Given the description of an element on the screen output the (x, y) to click on. 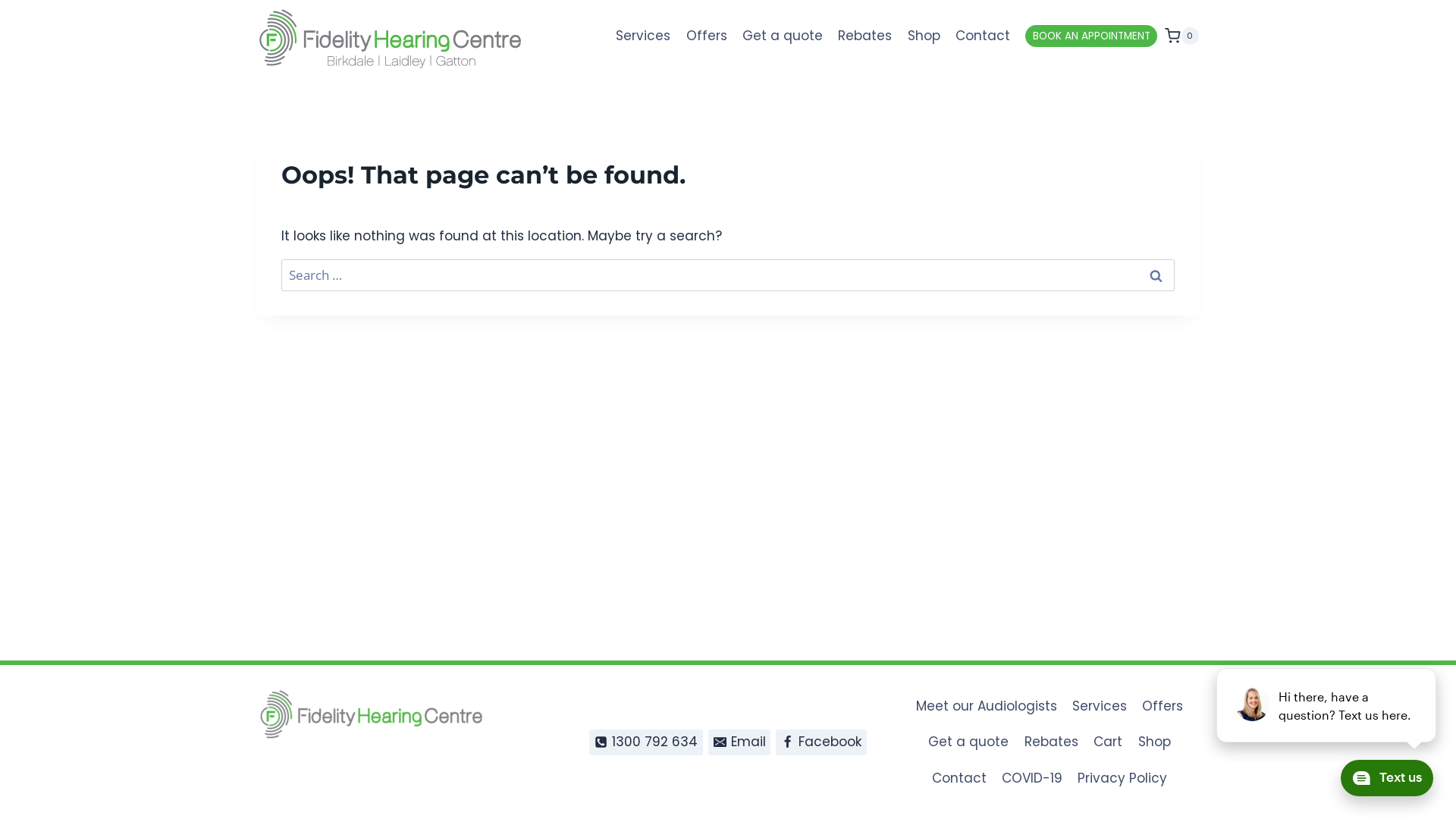
Get a quote Element type: text (968, 742)
Facebook Element type: text (820, 742)
Offers Element type: text (705, 36)
0 Element type: text (1181, 36)
Shop Element type: text (1153, 742)
Privacy Policy Element type: text (1122, 777)
Get a quote Element type: text (782, 36)
Meet our Audiologists Element type: text (985, 705)
Email Element type: text (739, 742)
Rebates Element type: text (864, 36)
Search Element type: text (1155, 275)
Contact Element type: text (958, 777)
1300 792 634 Element type: text (645, 742)
Contact Element type: text (982, 36)
Shop Element type: text (923, 36)
Services Element type: text (1099, 705)
BOOK AN APPOINTMENT Element type: text (1091, 36)
COVID-19 Element type: text (1032, 777)
Rebates Element type: text (1050, 742)
Cart Element type: text (1107, 742)
Services Element type: text (642, 36)
Offers Element type: text (1162, 705)
